Given the description of an element on the screen output the (x, y) to click on. 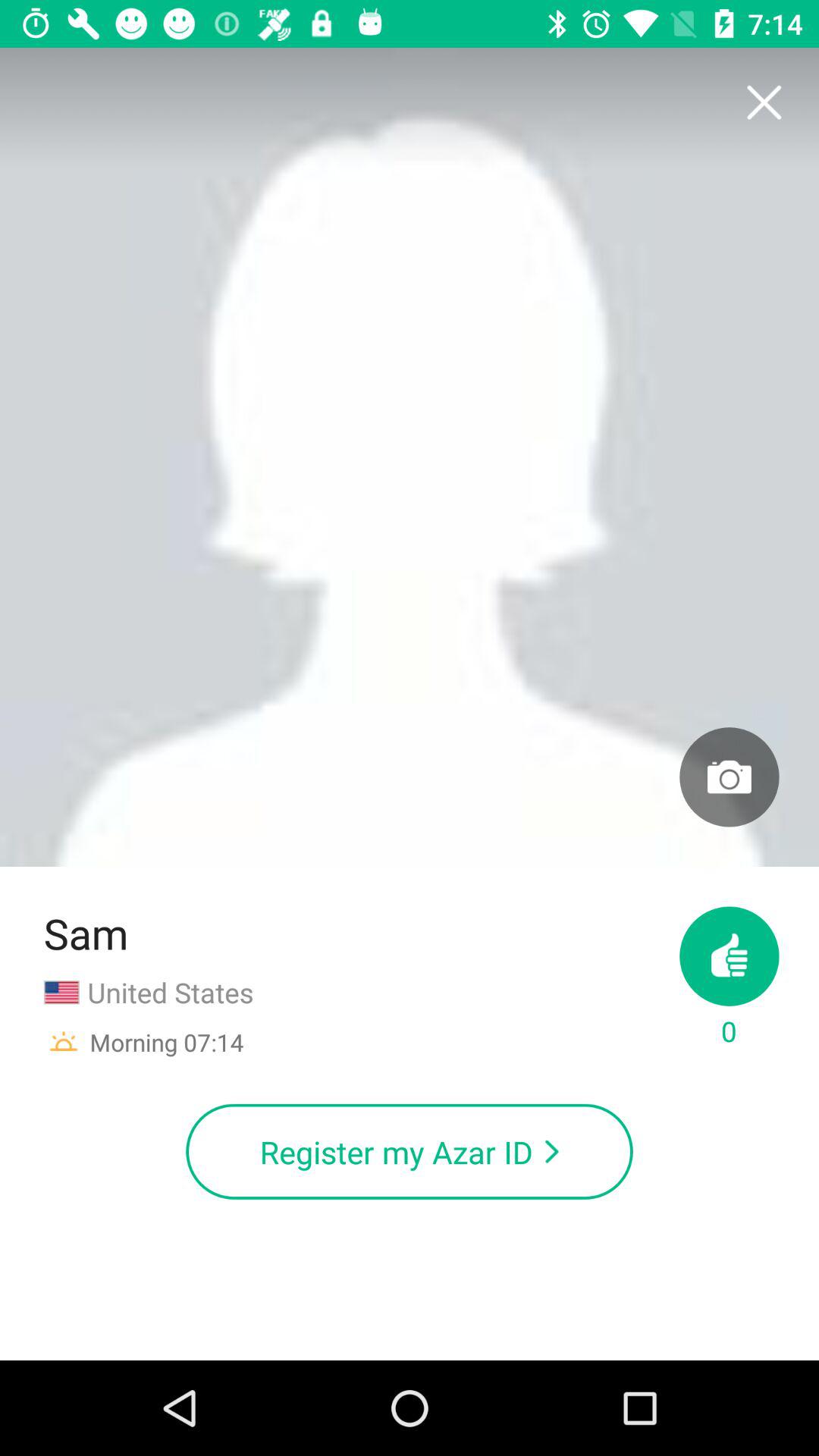
close (763, 103)
